Given the description of an element on the screen output the (x, y) to click on. 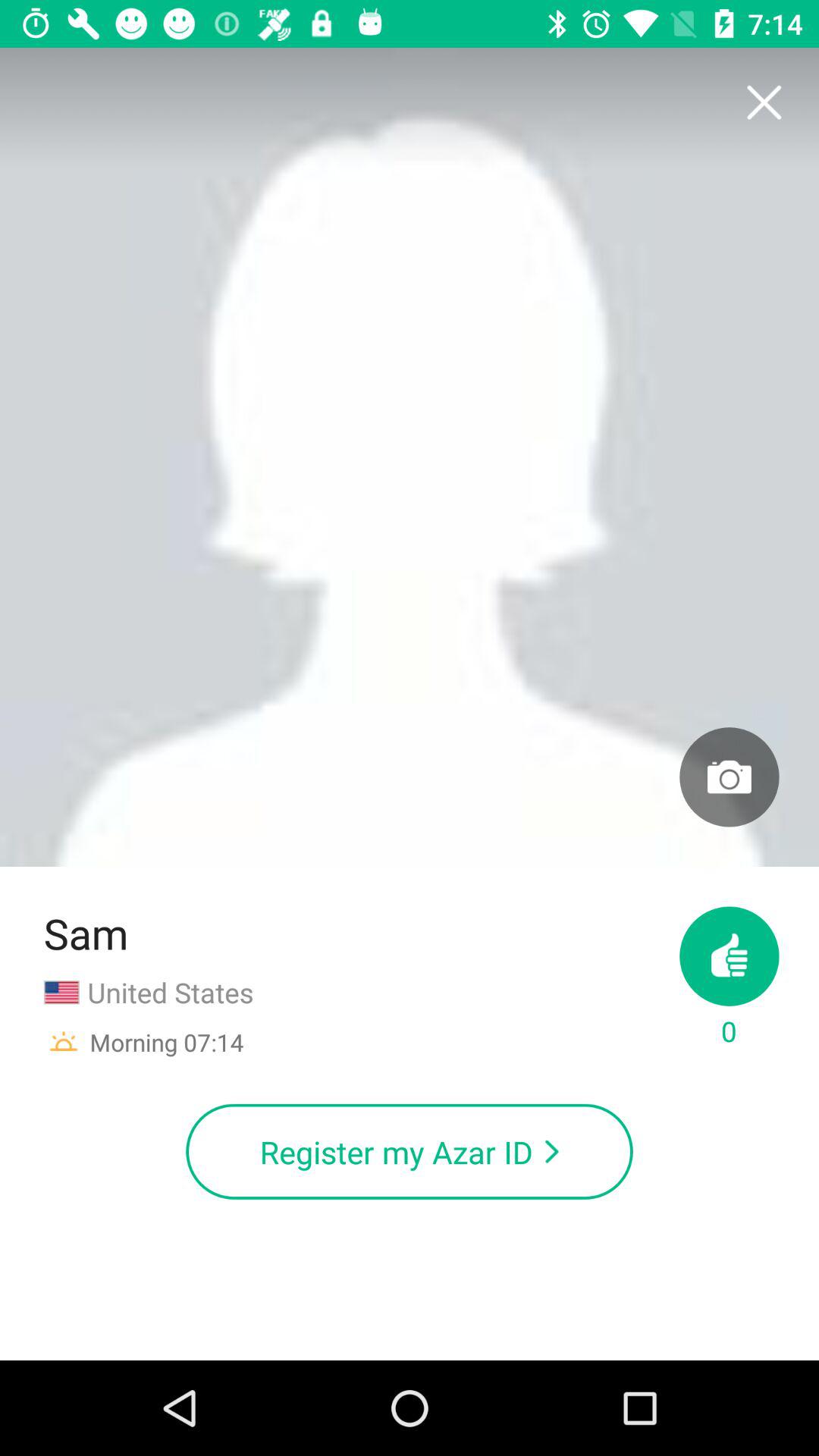
close (763, 103)
